Given the description of an element on the screen output the (x, y) to click on. 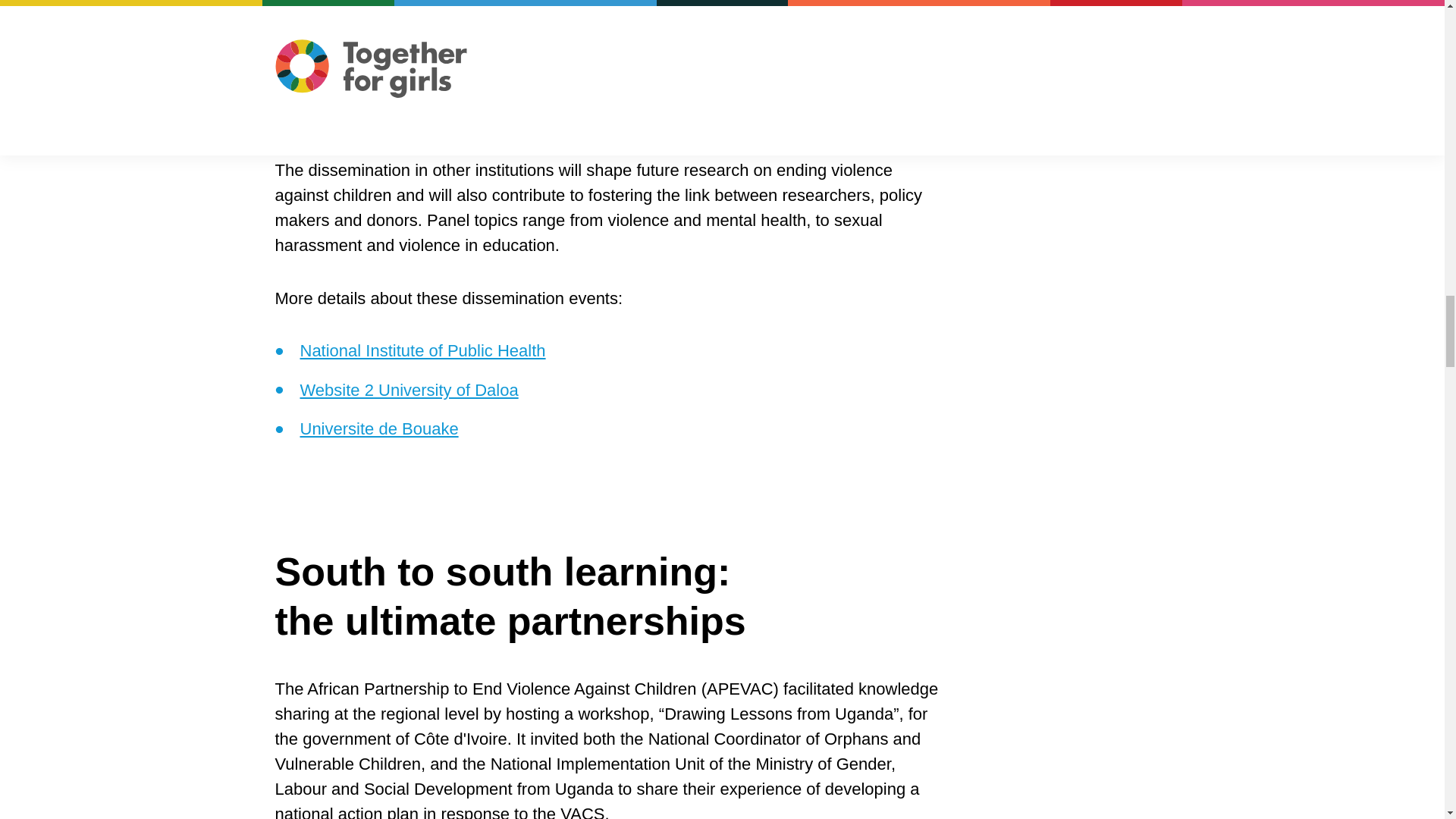
National Institute of Public Health (422, 350)
Website 2 University of Daloa (408, 389)
Universite de Bouake (378, 428)
